Given the description of an element on the screen output the (x, y) to click on. 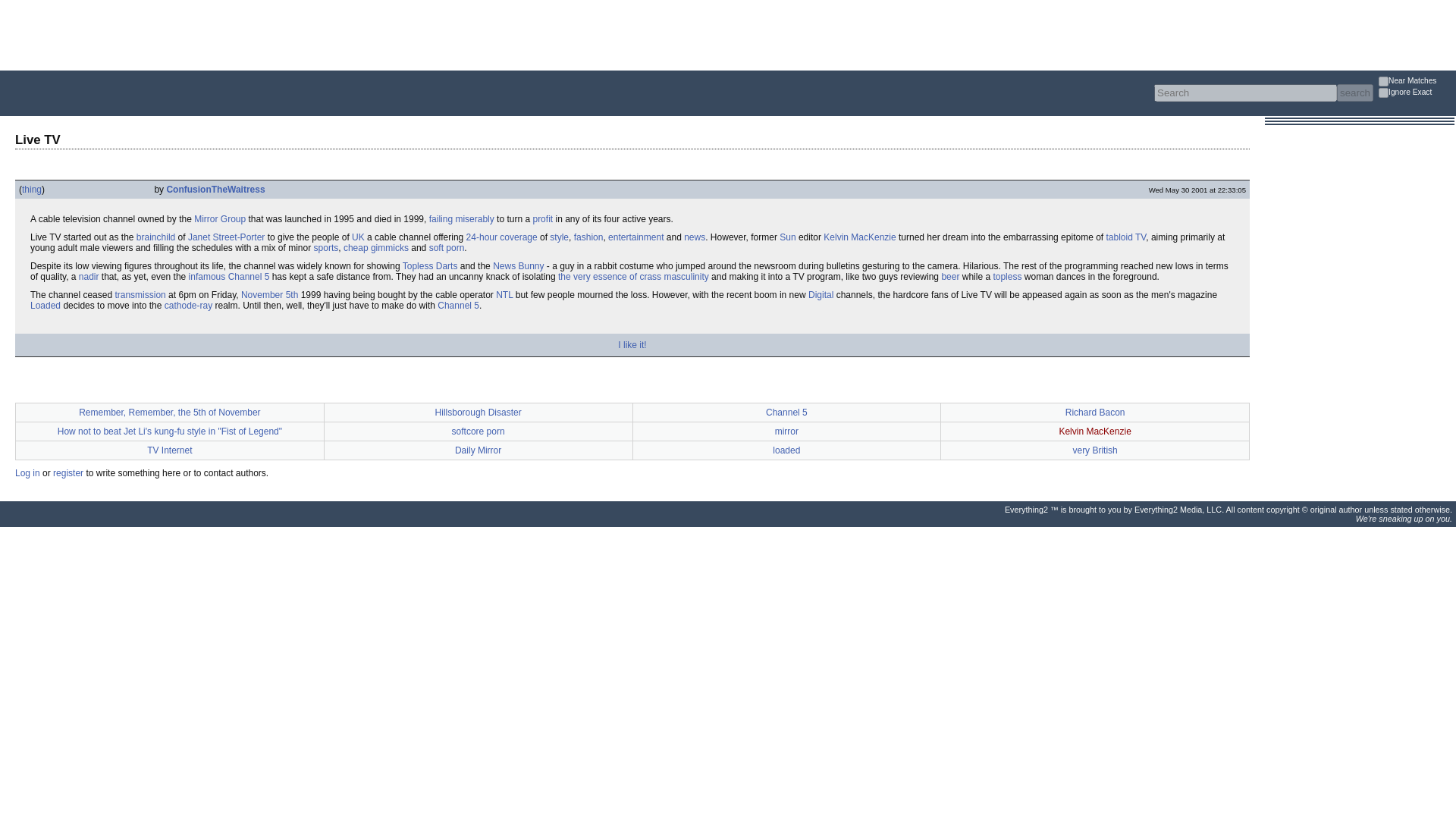
Advertisement (275, 33)
November 5th (269, 294)
Channel 5 (458, 305)
ConfusionTheWaitress (214, 189)
topless (1007, 276)
NTL (504, 294)
Kelvin MacKenzie (859, 236)
cheap gimmicks (376, 247)
cathode-ray (188, 305)
Mirror Group (219, 218)
